Given the description of an element on the screen output the (x, y) to click on. 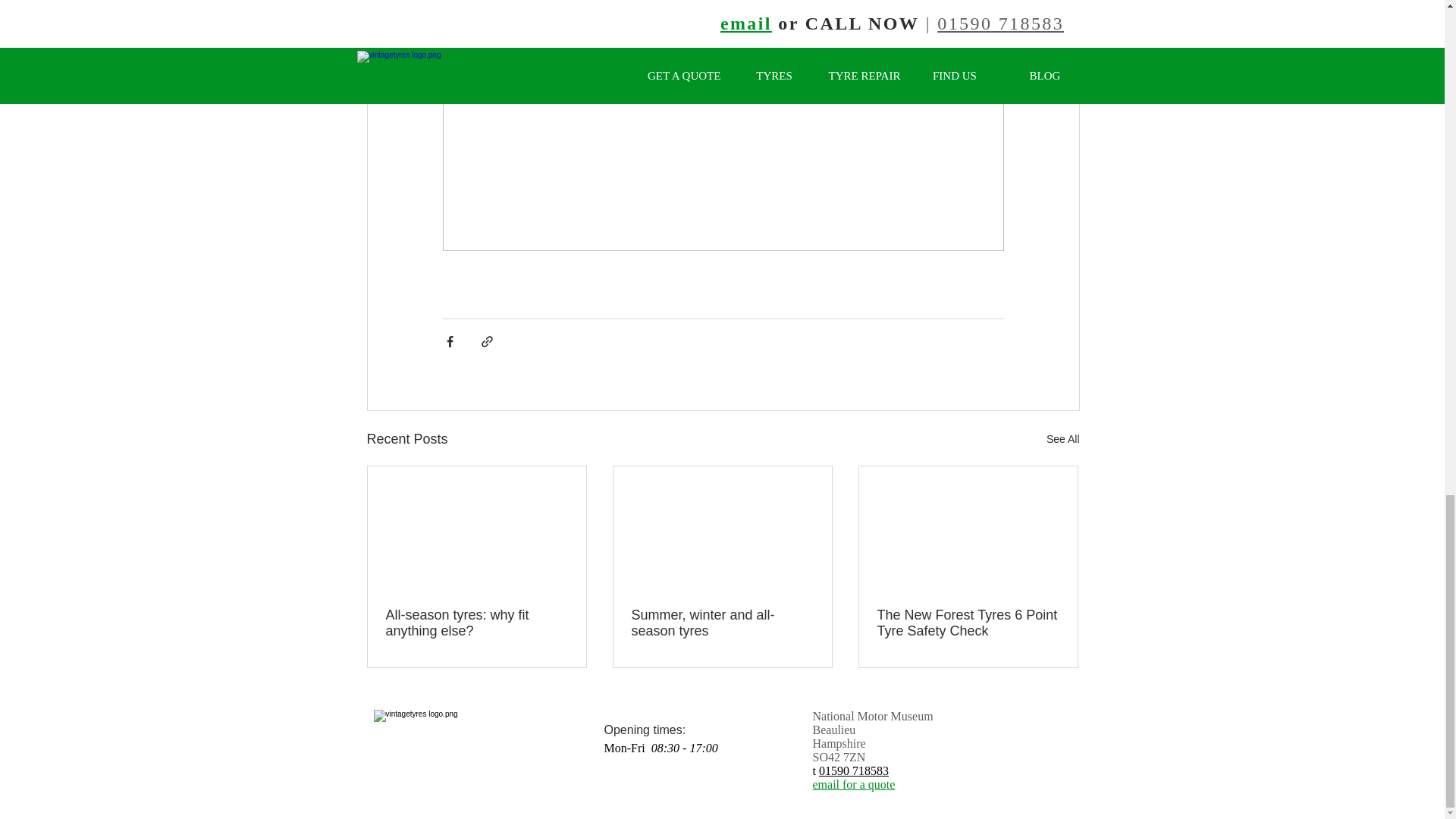
Summer, winter and all-season tyres (721, 623)
See All (1063, 439)
email for a quote (853, 784)
01590 718583 (853, 770)
The New Forest Tyres 6 Point Tyre Safety Check (967, 623)
All-season tyres: why fit anything else? (476, 623)
